Given the description of an element on the screen output the (x, y) to click on. 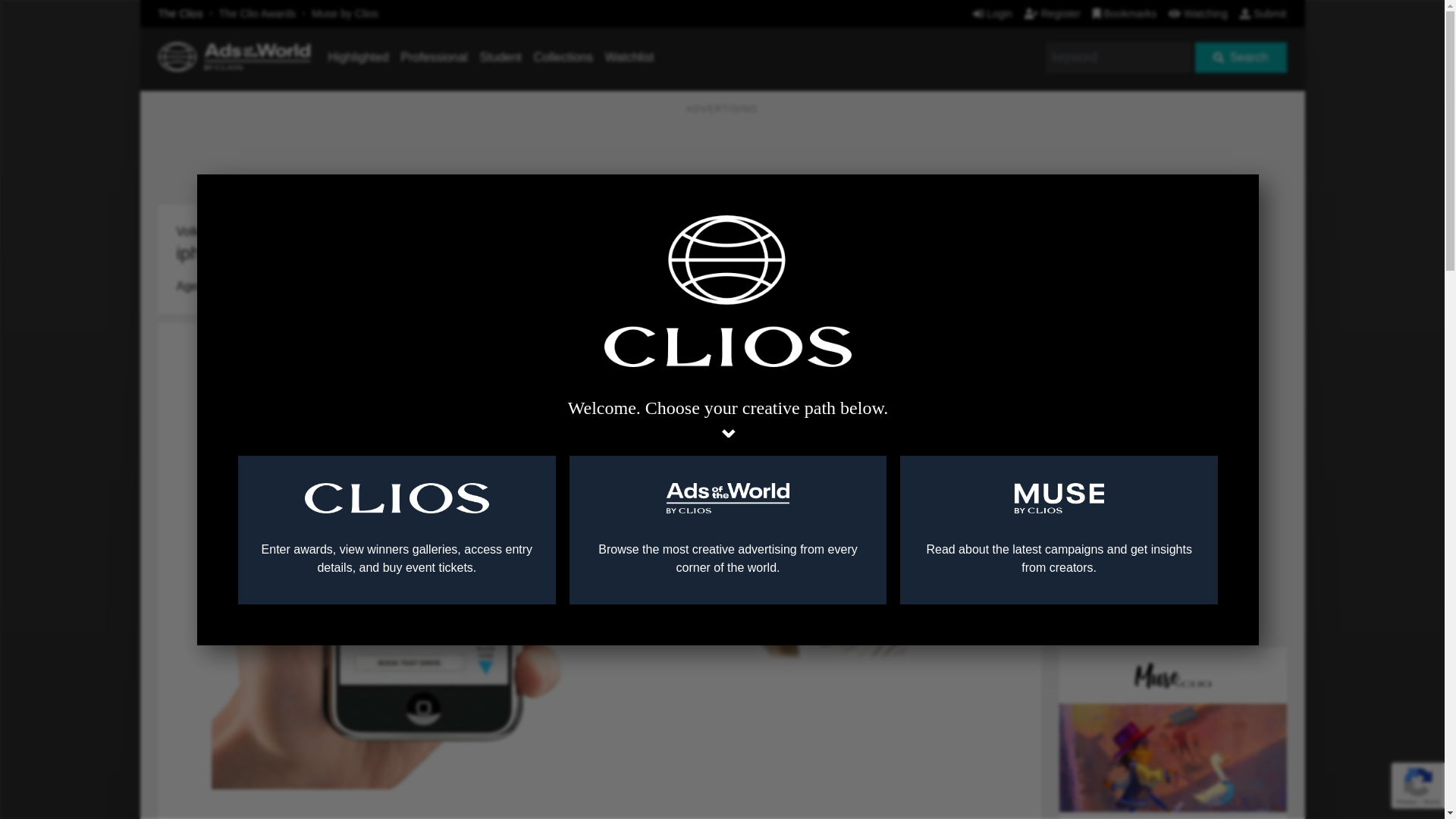
Search (1241, 57)
Submit (1263, 13)
Student (500, 56)
Watchlist (629, 56)
Highlighted (357, 56)
Collections (563, 56)
Watching (1198, 13)
Bookmarks (1125, 13)
Watching (1198, 13)
Professional (434, 56)
